Given the description of an element on the screen output the (x, y) to click on. 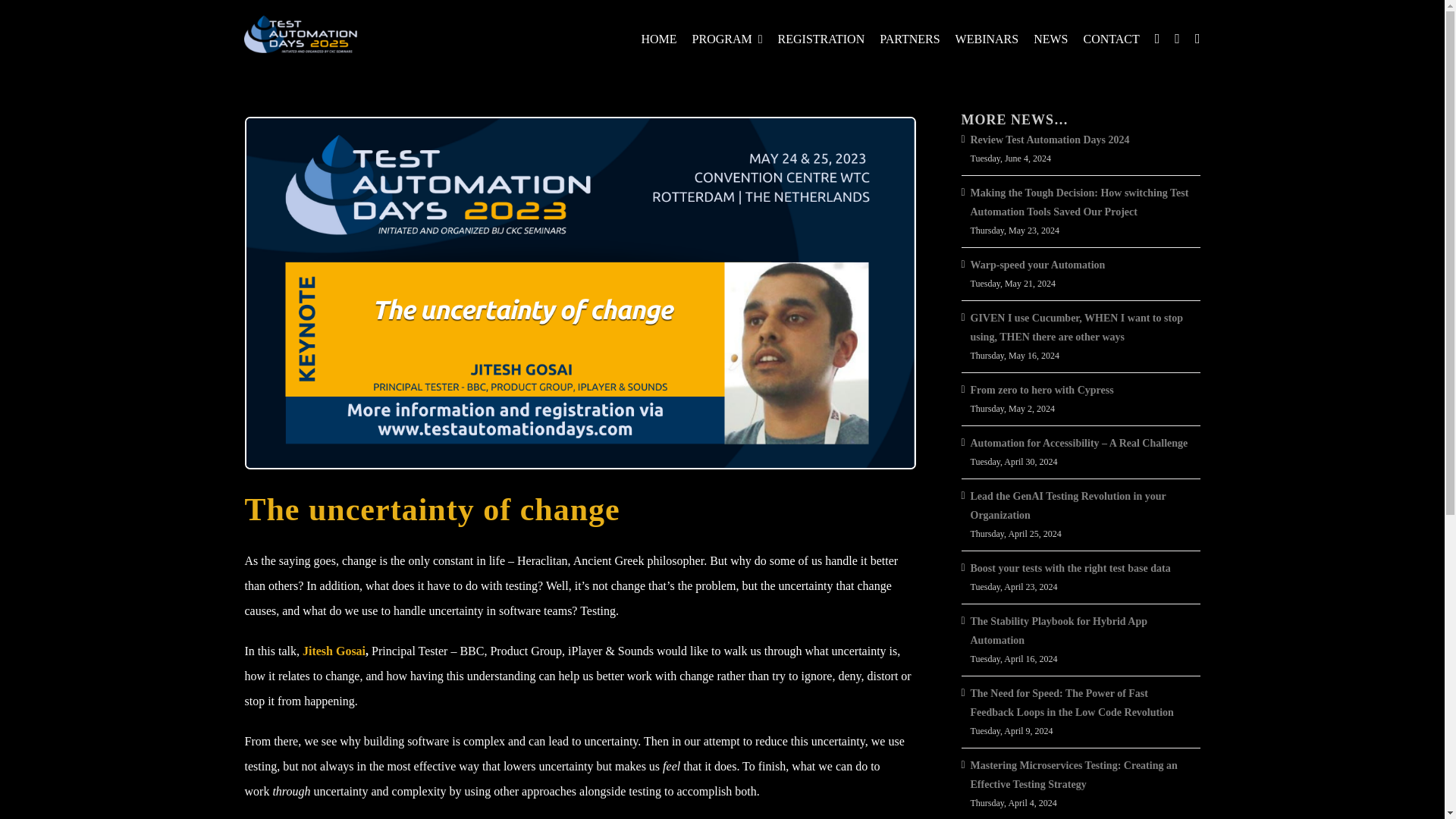
CONTACT (1110, 34)
HOME (658, 34)
PARTNERS (909, 34)
Register for the Test Automation Days (820, 34)
Test Automation Days (658, 34)
NEWS (1050, 34)
Contact the conference organization (1110, 34)
REGISTRATION (820, 34)
WEBINARS (987, 34)
PROGRAM (727, 34)
